Given the description of an element on the screen output the (x, y) to click on. 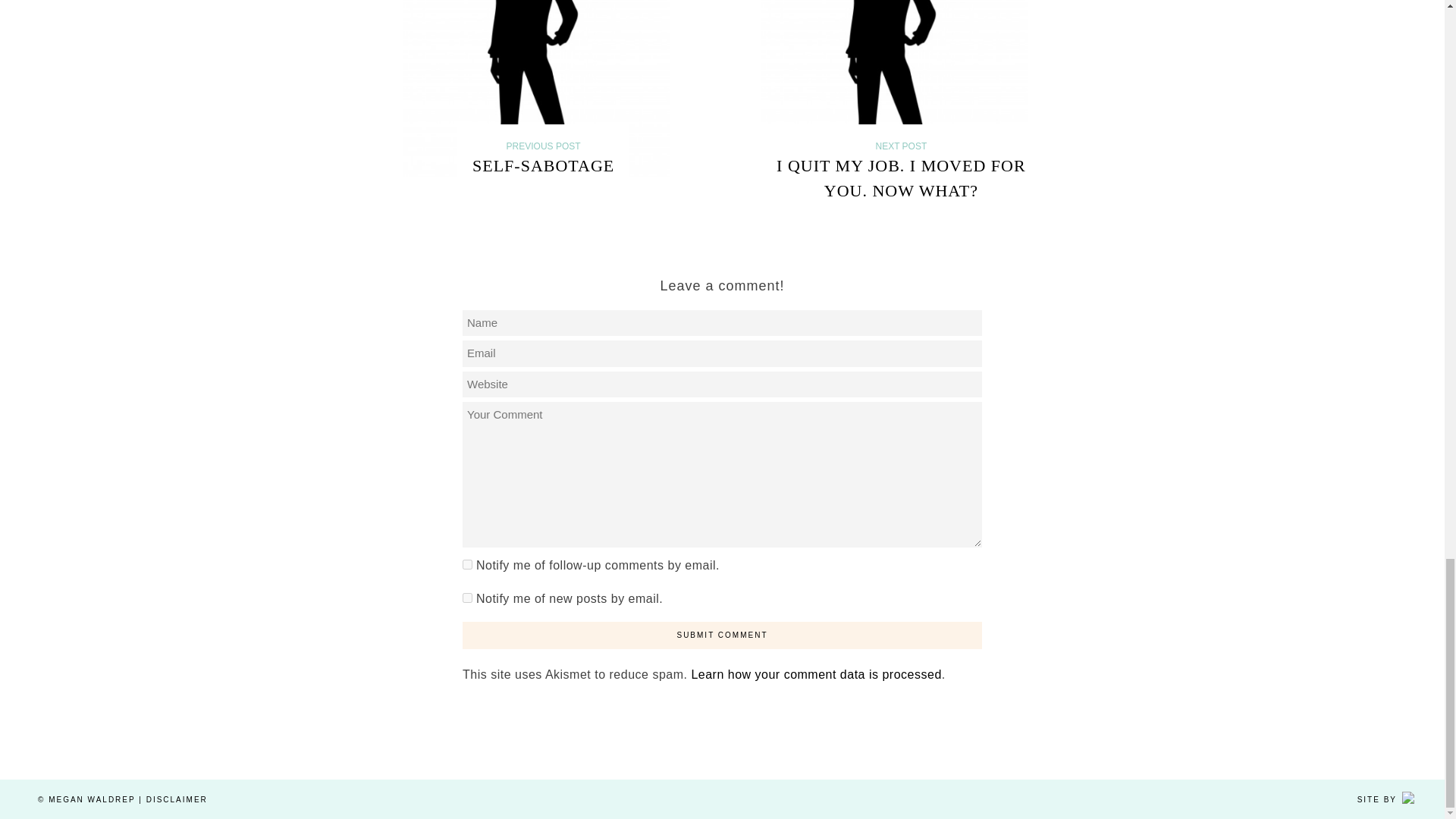
subscribe (467, 597)
subscribe (467, 564)
Submit Comment (722, 635)
